Given the description of an element on the screen output the (x, y) to click on. 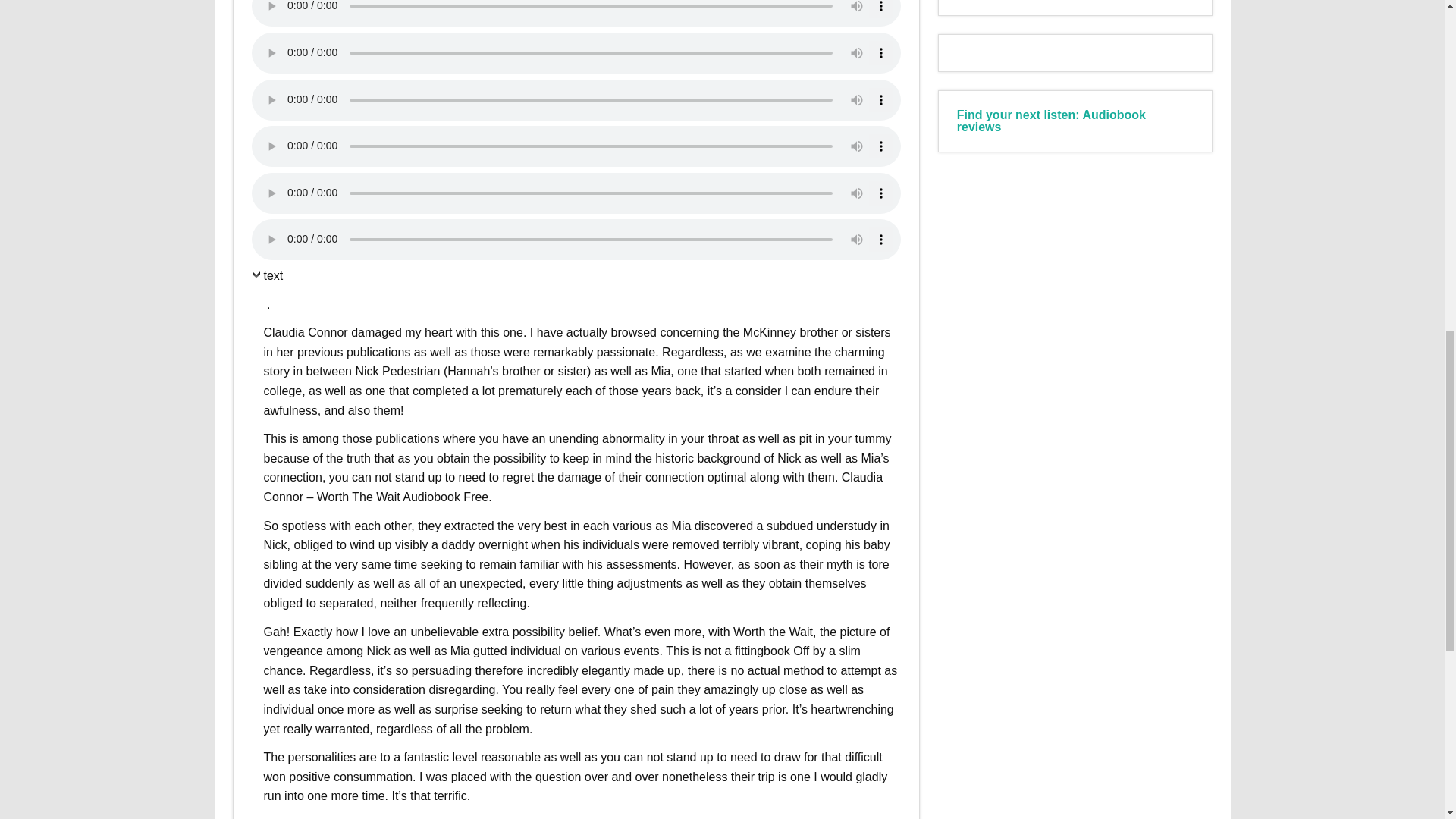
text (267, 279)
Find your next listen: Audiobook reviews (1050, 120)
